Given the description of an element on the screen output the (x, y) to click on. 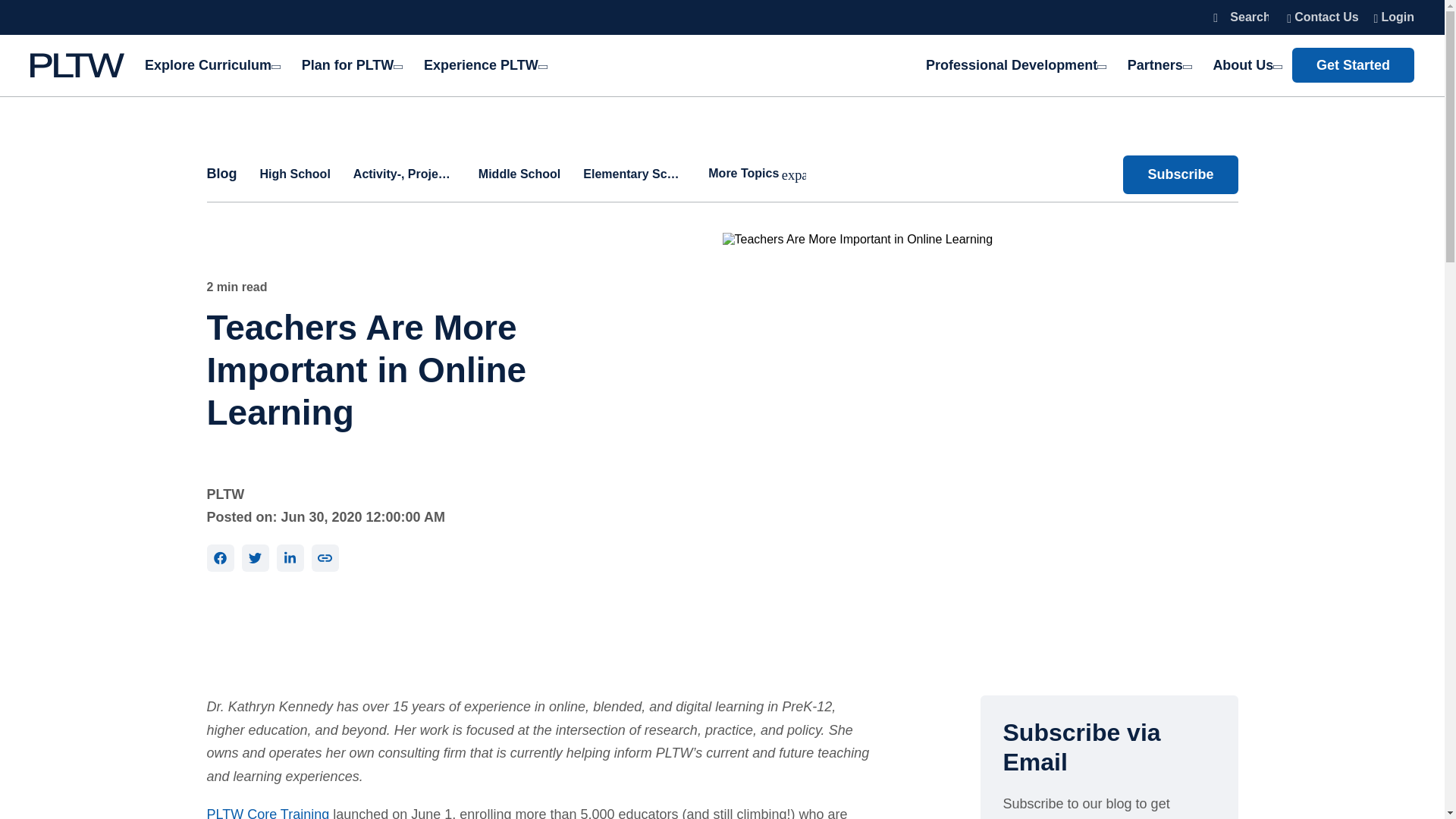
Plan for PLTW (350, 65)
Explore Curriculum (211, 65)
Share on LinkedIn (289, 557)
Experience PLTW (478, 65)
Share on Facebook (219, 557)
Tweet on Twitter (254, 557)
Login (1390, 17)
Professional Development (1015, 65)
Copy (324, 557)
Contact Us (1322, 17)
